Given the description of an element on the screen output the (x, y) to click on. 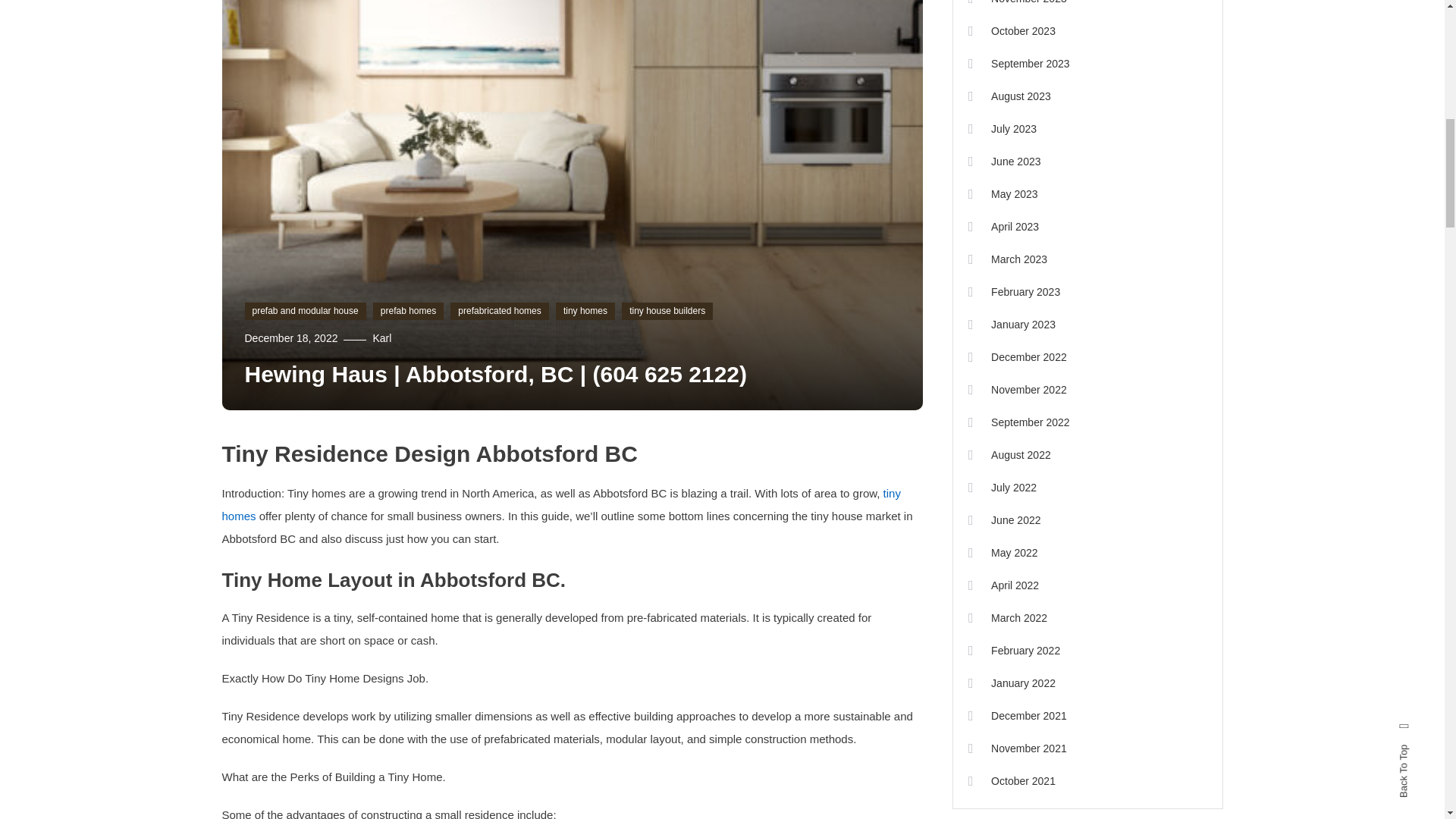
prefab homes (408, 311)
prefab and modular house (304, 311)
